Given the description of an element on the screen output the (x, y) to click on. 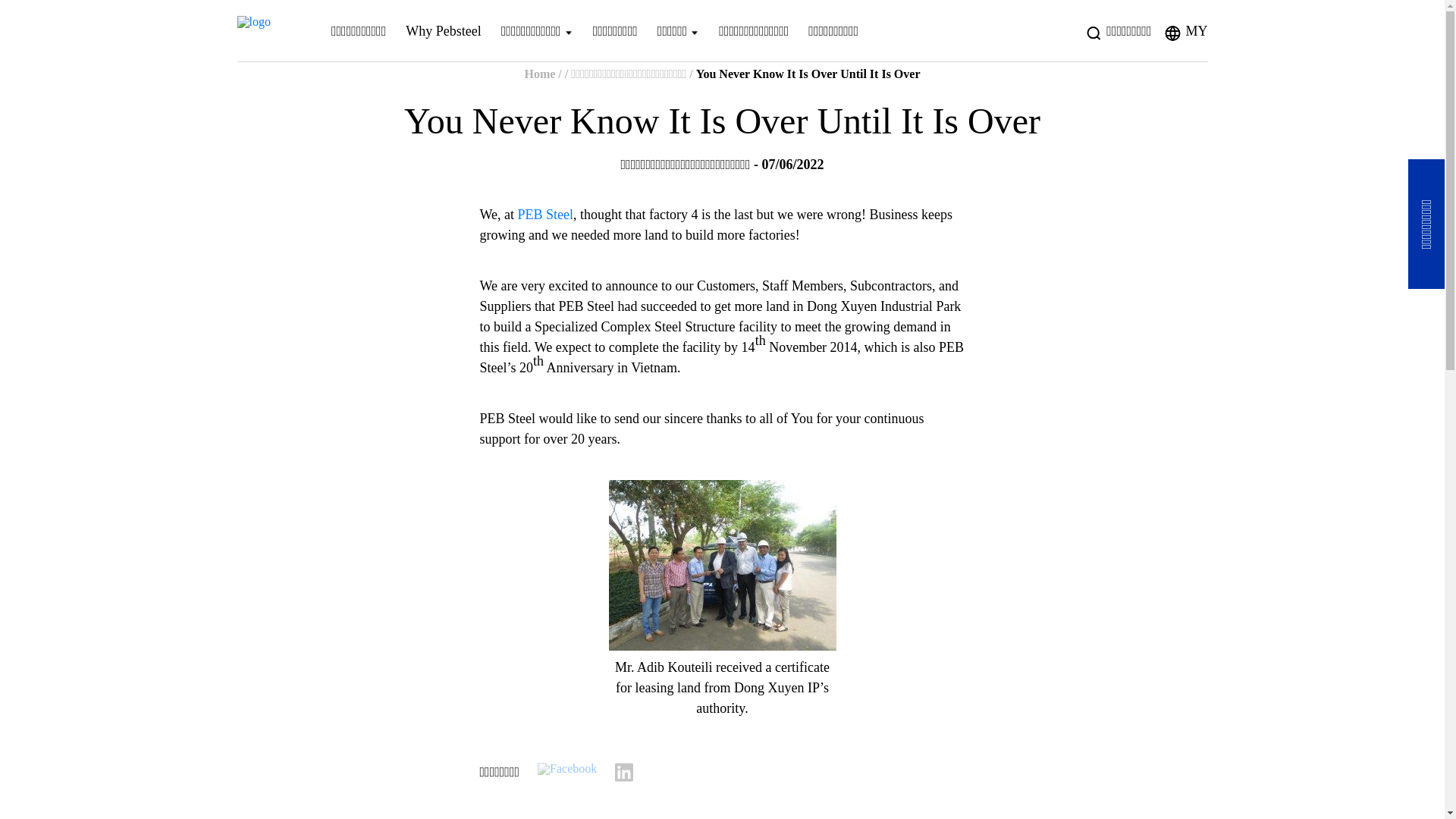
PEB Steel (545, 214)
Why Pebsteel (443, 30)
Home (539, 73)
